Given the description of an element on the screen output the (x, y) to click on. 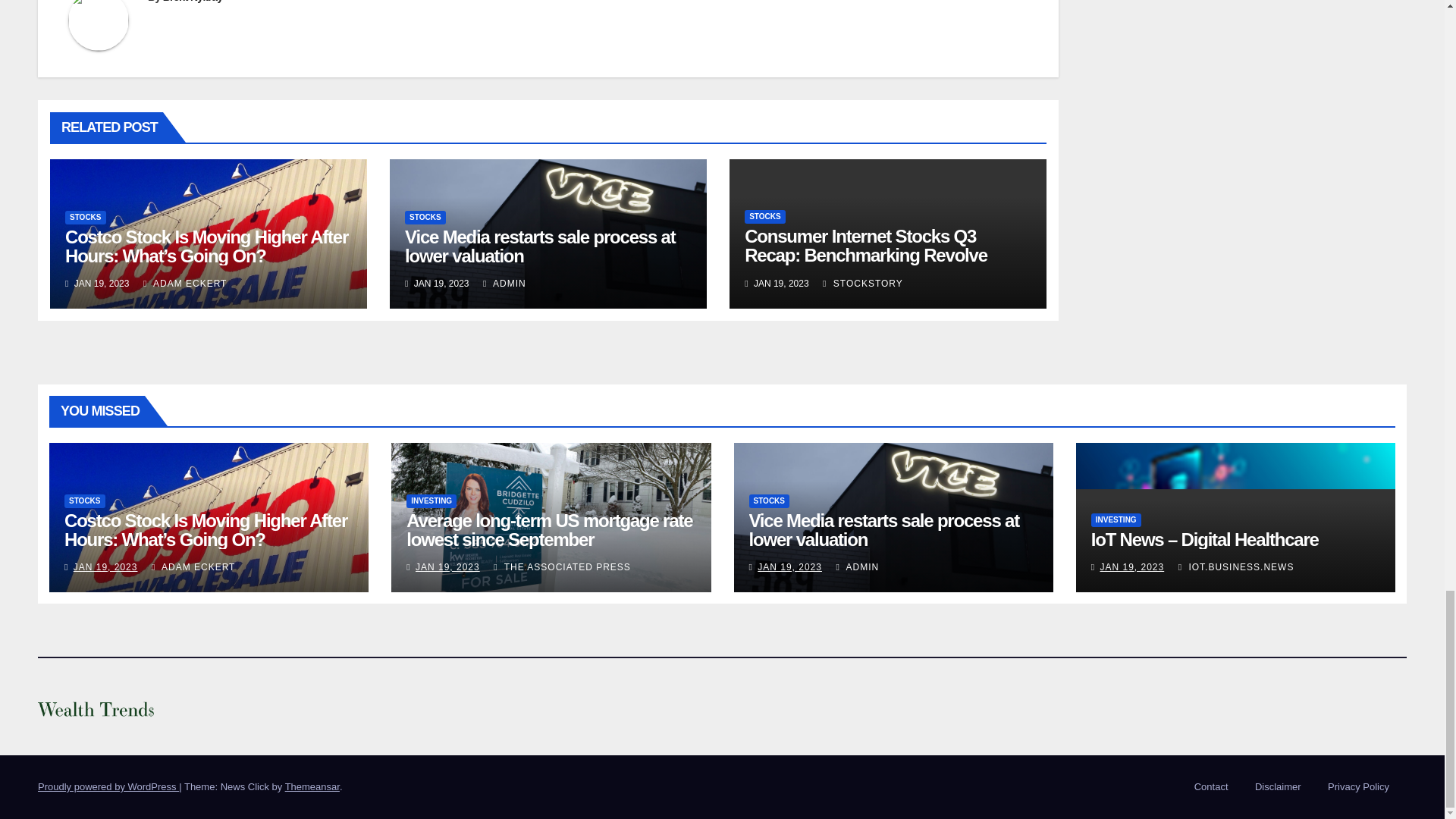
Privacy Policy (1358, 786)
STOCKS (424, 217)
STOCKS (84, 500)
Disclaimer (1278, 786)
Contact (1211, 786)
Vice Media restarts sale process at lower valuation (539, 246)
Brent Nyitray (192, 1)
STOCKS (85, 217)
STOCKSTORY (862, 283)
ADAM ECKERT (184, 283)
STOCKS (765, 216)
ADMIN (504, 283)
